Given the description of an element on the screen output the (x, y) to click on. 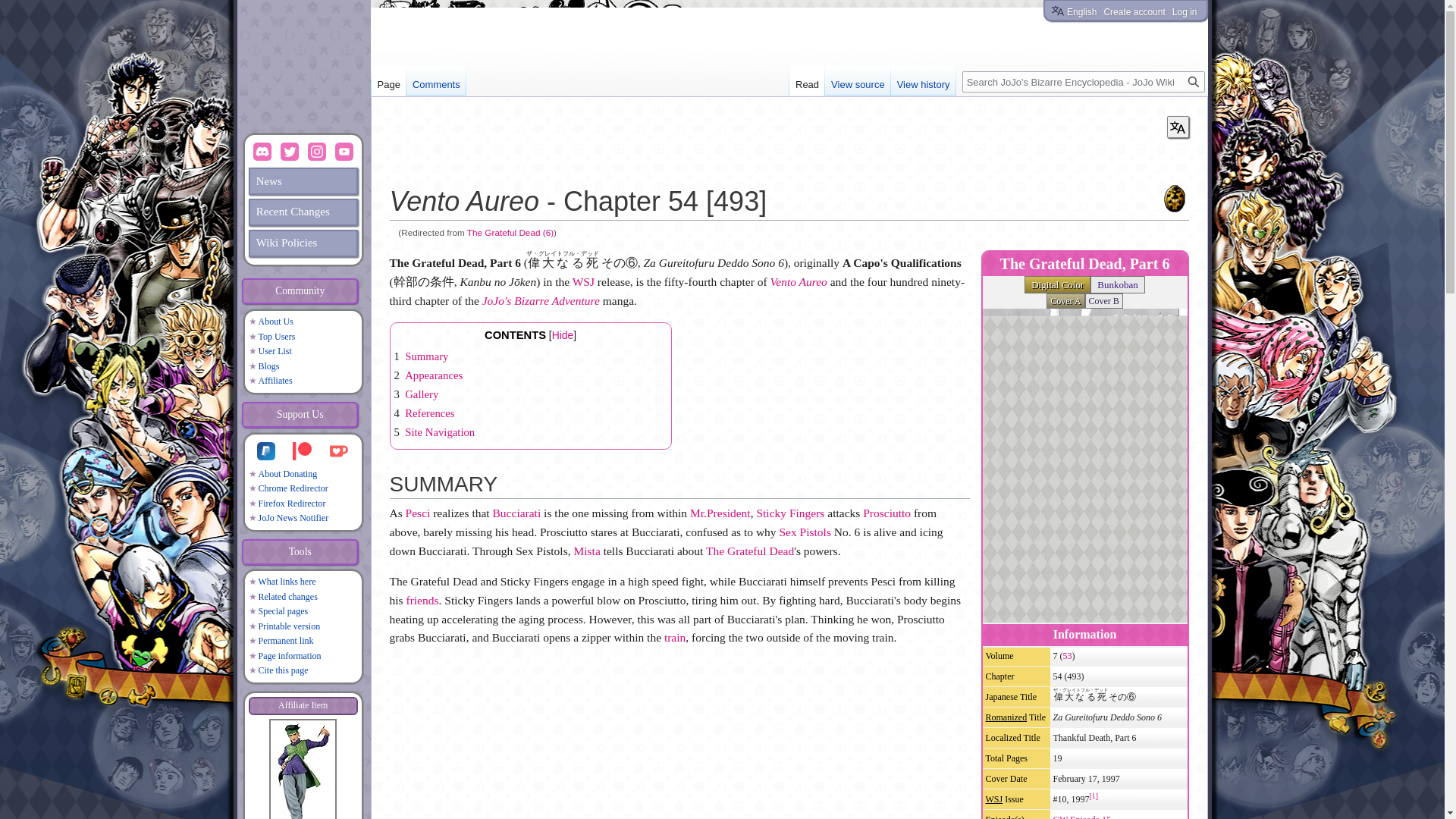
Search (1193, 81)
The Grateful Dead (749, 550)
Pesci (418, 512)
Vento Aureo (798, 281)
Mr.President (720, 512)
Prosciutto (887, 512)
Go (1193, 81)
GW Episode 15 (1080, 816)
train (674, 636)
Romanized (1006, 716)
